Given the description of an element on the screen output the (x, y) to click on. 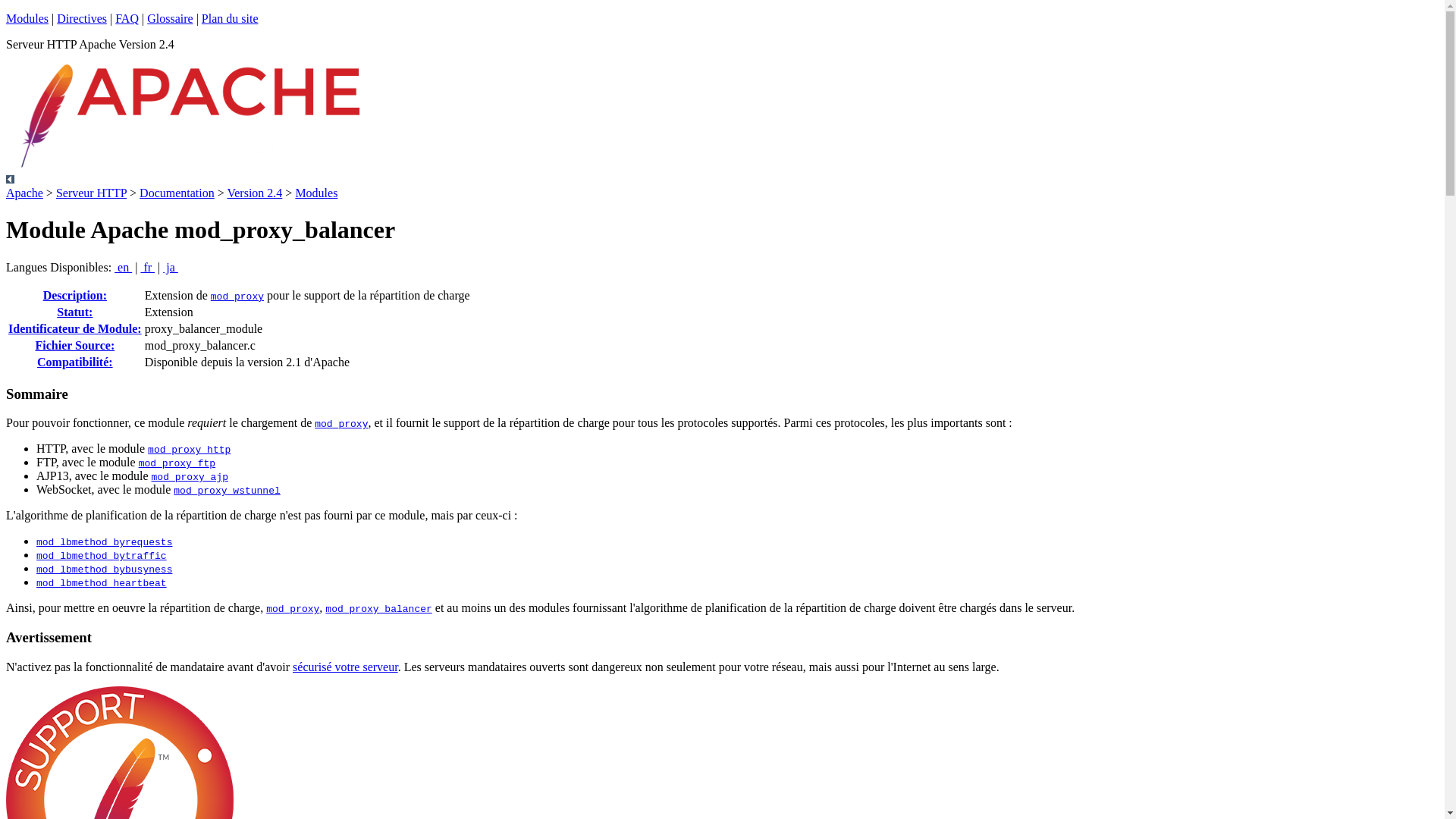
Description: Element type: text (74, 294)
mod_proxy_wstunnel Element type: text (226, 490)
mod_proxy_ftp Element type: text (176, 463)
Identificateur de Module: Element type: text (74, 328)
FAQ Element type: text (126, 18)
Plan du site Element type: text (229, 18)
Serveur HTTP Element type: text (91, 192)
Statut: Element type: text (74, 311)
Directives Element type: text (81, 18)
mod_proxy_ajp Element type: text (189, 477)
Fichier Source: Element type: text (74, 344)
 fr  Element type: text (147, 266)
Glossaire Element type: text (169, 18)
mod_lbmethod_heartbeat Element type: text (101, 583)
mod_proxy Element type: text (292, 609)
Apache Element type: text (24, 192)
Documentation Element type: text (176, 192)
mod_proxy Element type: text (340, 423)
 en  Element type: text (122, 266)
<- Element type: hover (10, 179)
mod_lbmethod_byrequests Element type: text (104, 542)
Version 2.4 Element type: text (254, 192)
Modules Element type: text (27, 18)
mod_proxy_http Element type: text (188, 449)
mod_proxy Element type: text (236, 296)
mod_lbmethod_bytraffic Element type: text (101, 555)
Modules Element type: text (315, 192)
mod_proxy_balancer Element type: text (378, 609)
mod_lbmethod_bybusyness Element type: text (104, 569)
 ja  Element type: text (170, 266)
